Given the description of an element on the screen output the (x, y) to click on. 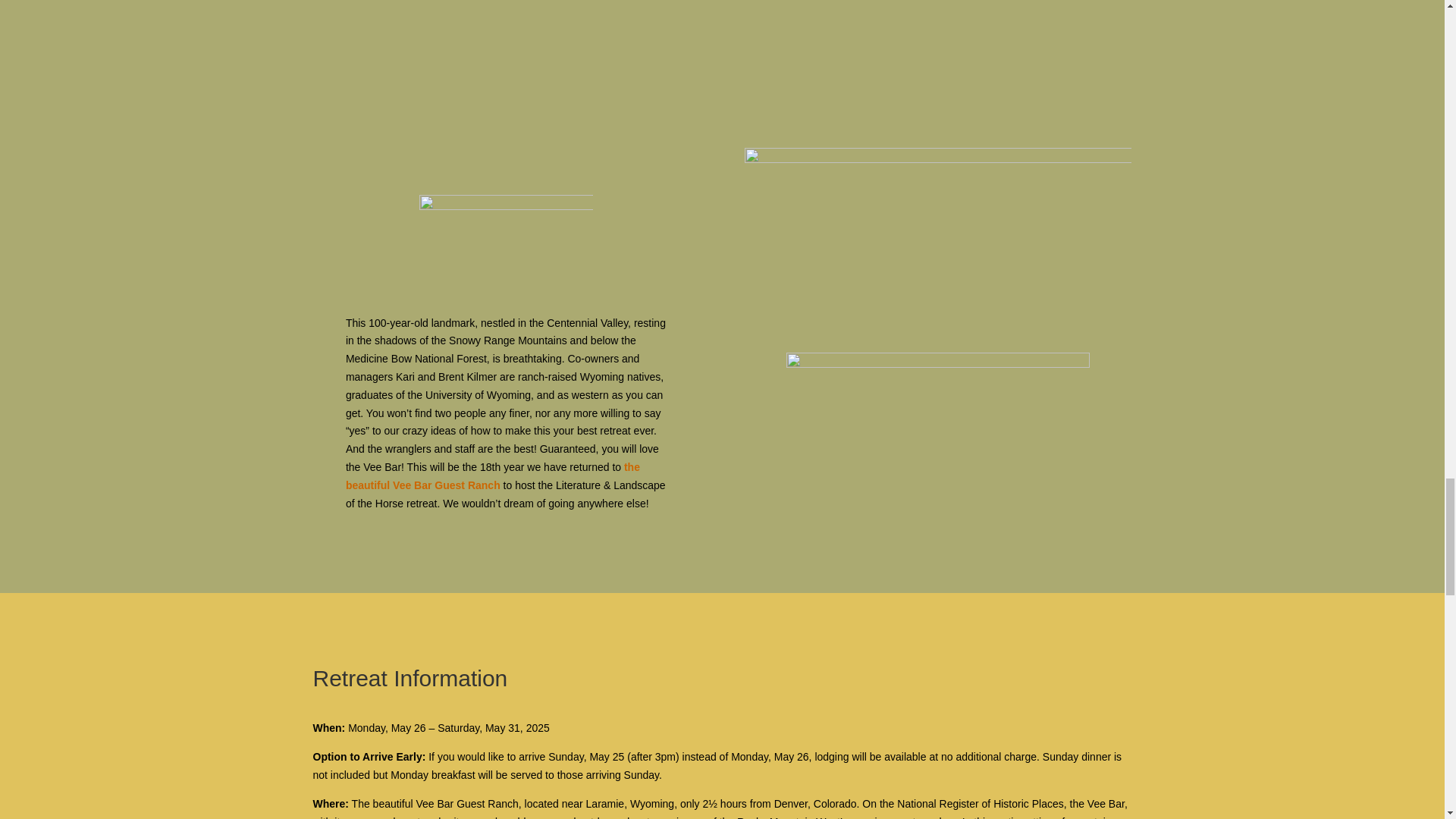
the beautiful Vee Bar Guest Ranch (493, 476)
